Given the description of an element on the screen output the (x, y) to click on. 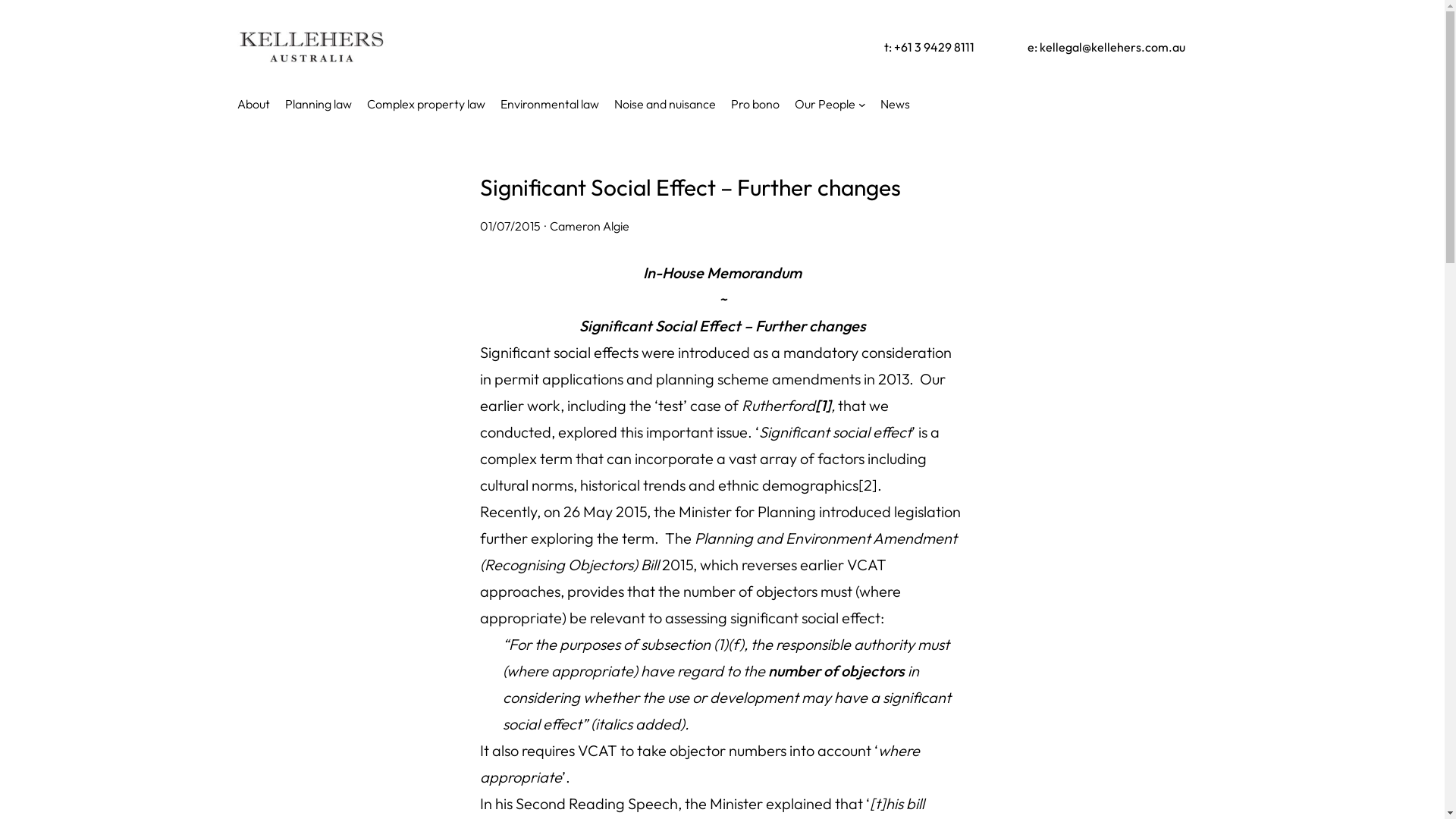
Our People Element type: text (824, 103)
News Element type: text (895, 103)
Complex property law Element type: text (426, 103)
Environmental law Element type: text (549, 103)
Planning law Element type: text (318, 103)
t: +61 3 9429 8111 Element type: text (929, 46)
Noise and nuisance Element type: text (664, 103)
About Element type: text (252, 103)
Pro bono Element type: text (755, 103)
e: kellegal@kellehers.com.au Element type: text (1105, 46)
